Given the description of an element on the screen output the (x, y) to click on. 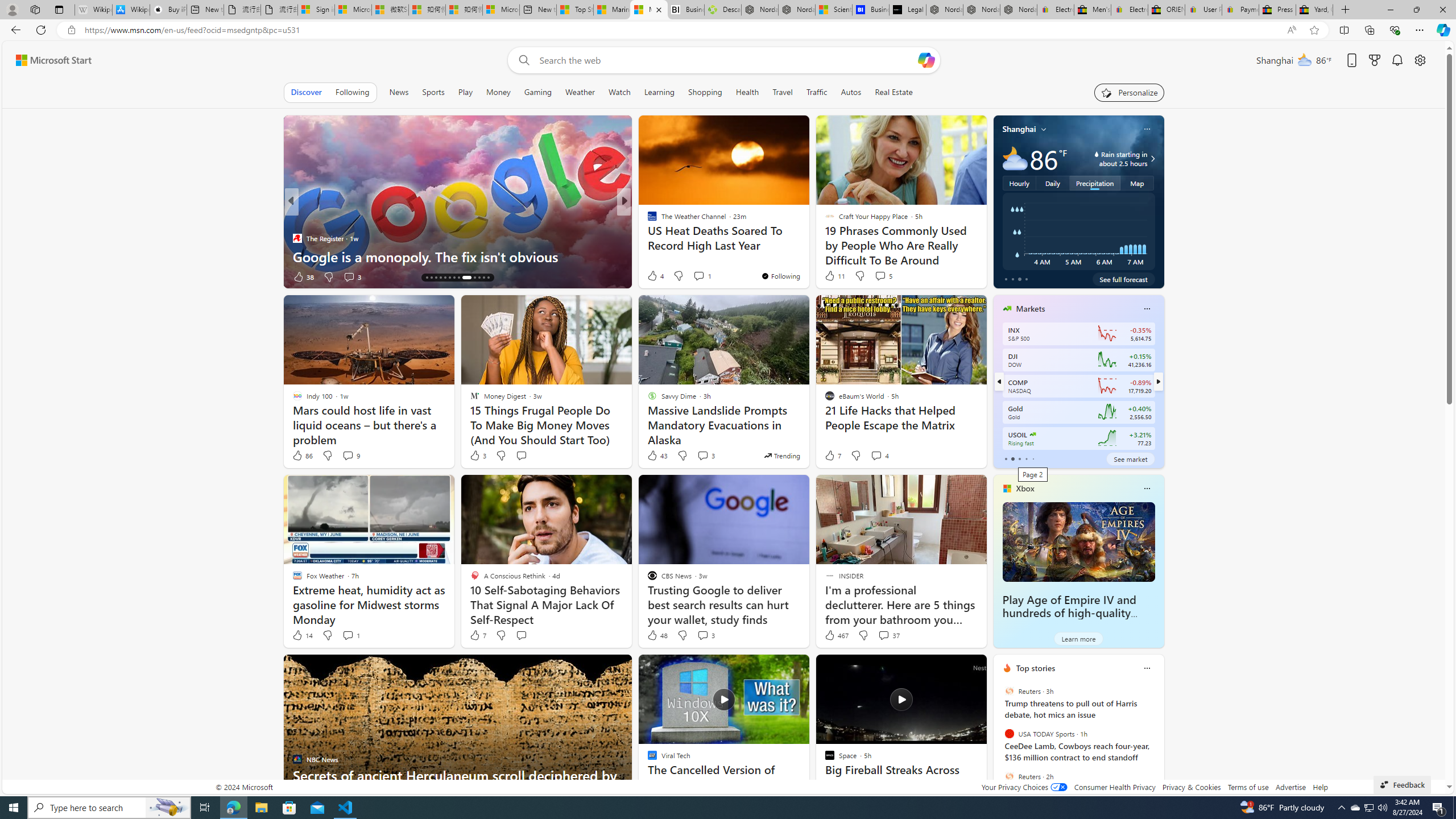
US Oil WTI (1032, 434)
13 Like (652, 276)
Hide this story (952, 668)
View comments 13 Comment (6, 276)
86 Like (301, 455)
tab-3 (1025, 458)
115 Like (654, 276)
View comments 4 Comment (876, 455)
See market (1130, 459)
